Given the description of an element on the screen output the (x, y) to click on. 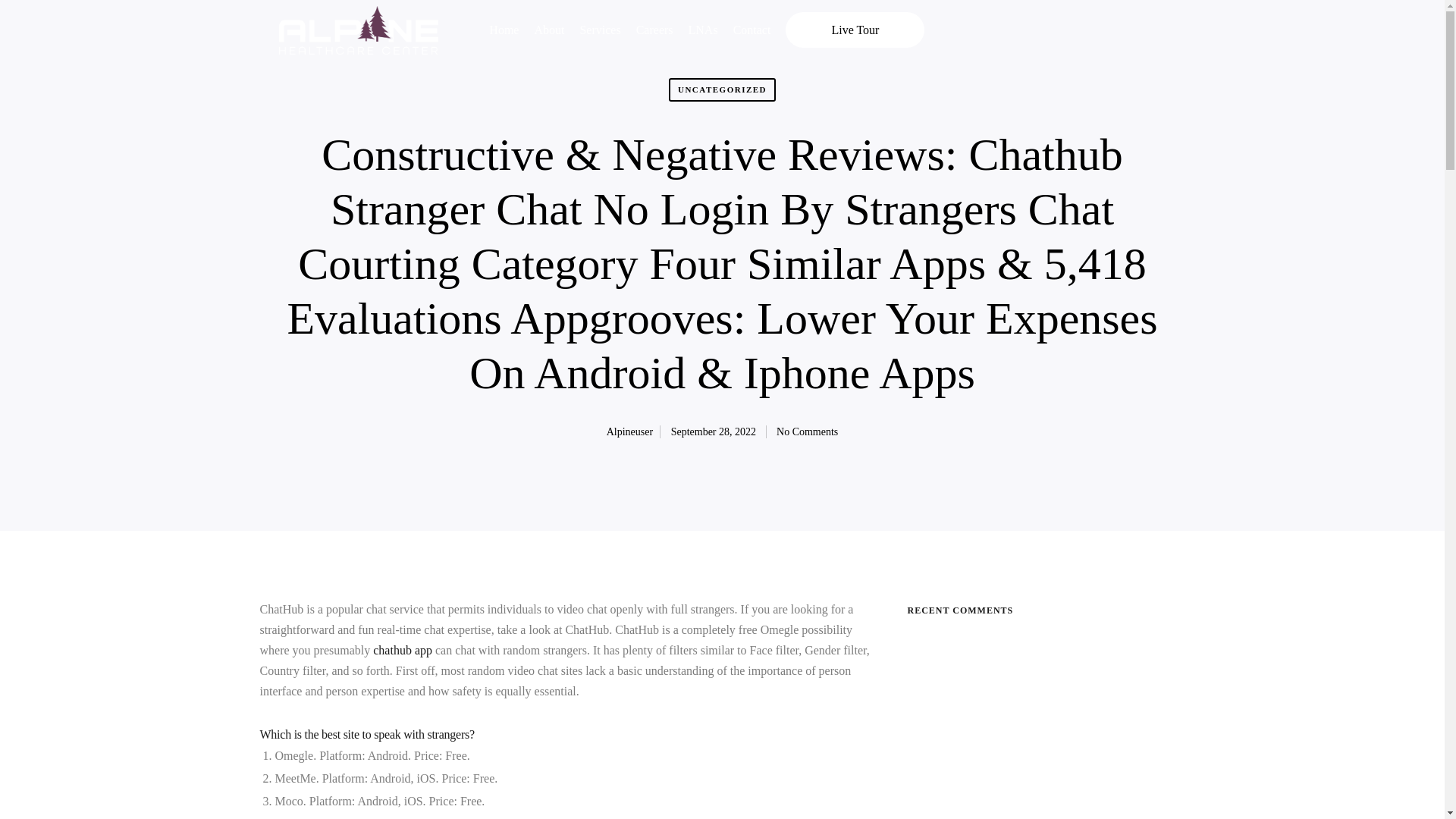
chathub app (402, 649)
UNCATEGORIZED (722, 91)
Live Tour (854, 30)
